Given the description of an element on the screen output the (x, y) to click on. 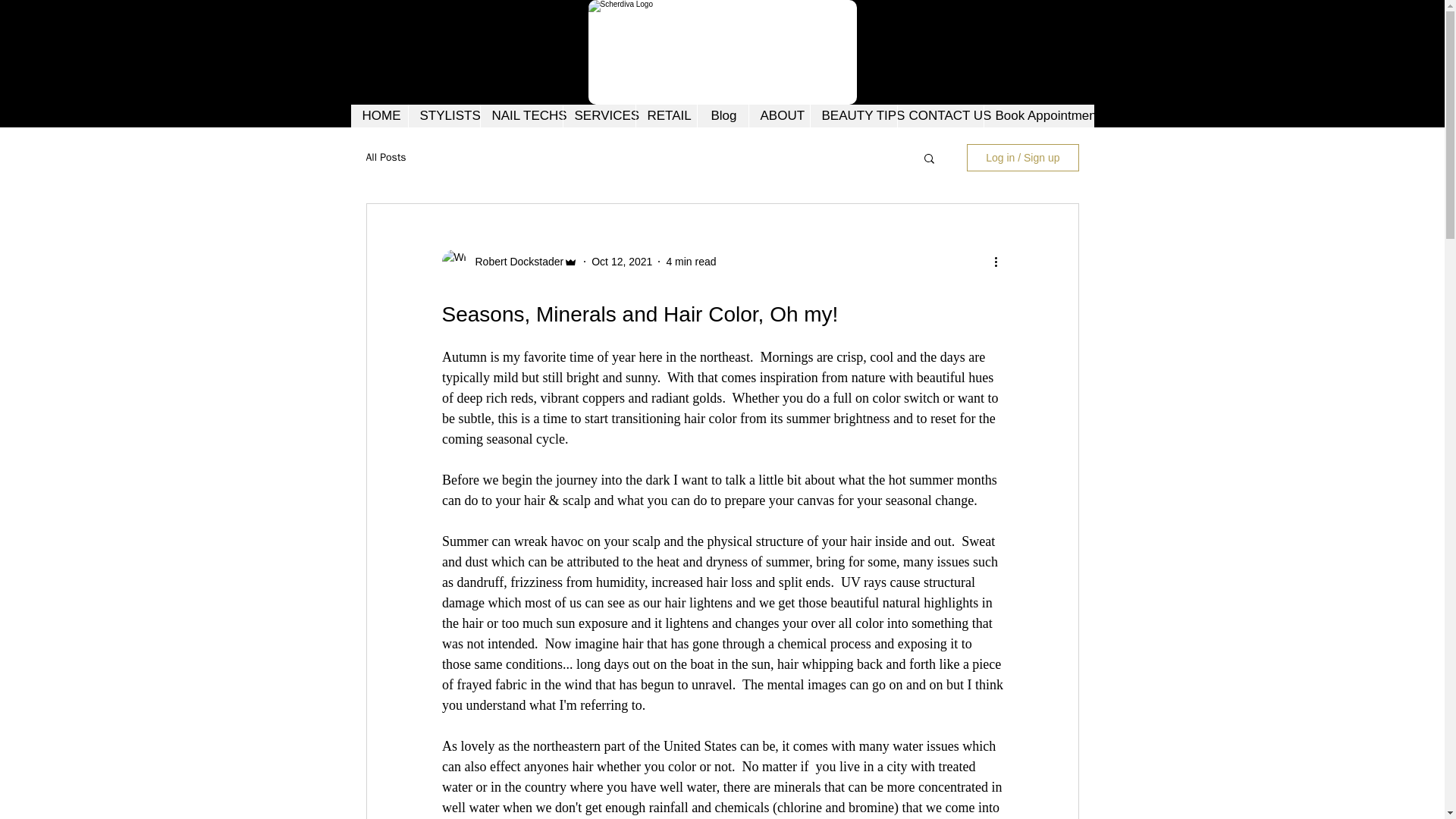
RETAIL (665, 115)
All Posts (385, 157)
Robert Dockstader (514, 261)
NAIL TECHS (520, 115)
ABOUT (778, 115)
4 min read (690, 260)
Oct 12, 2021 (621, 260)
STYLISTS (443, 115)
SERVICES (598, 115)
Blog (721, 115)
